Given the description of an element on the screen output the (x, y) to click on. 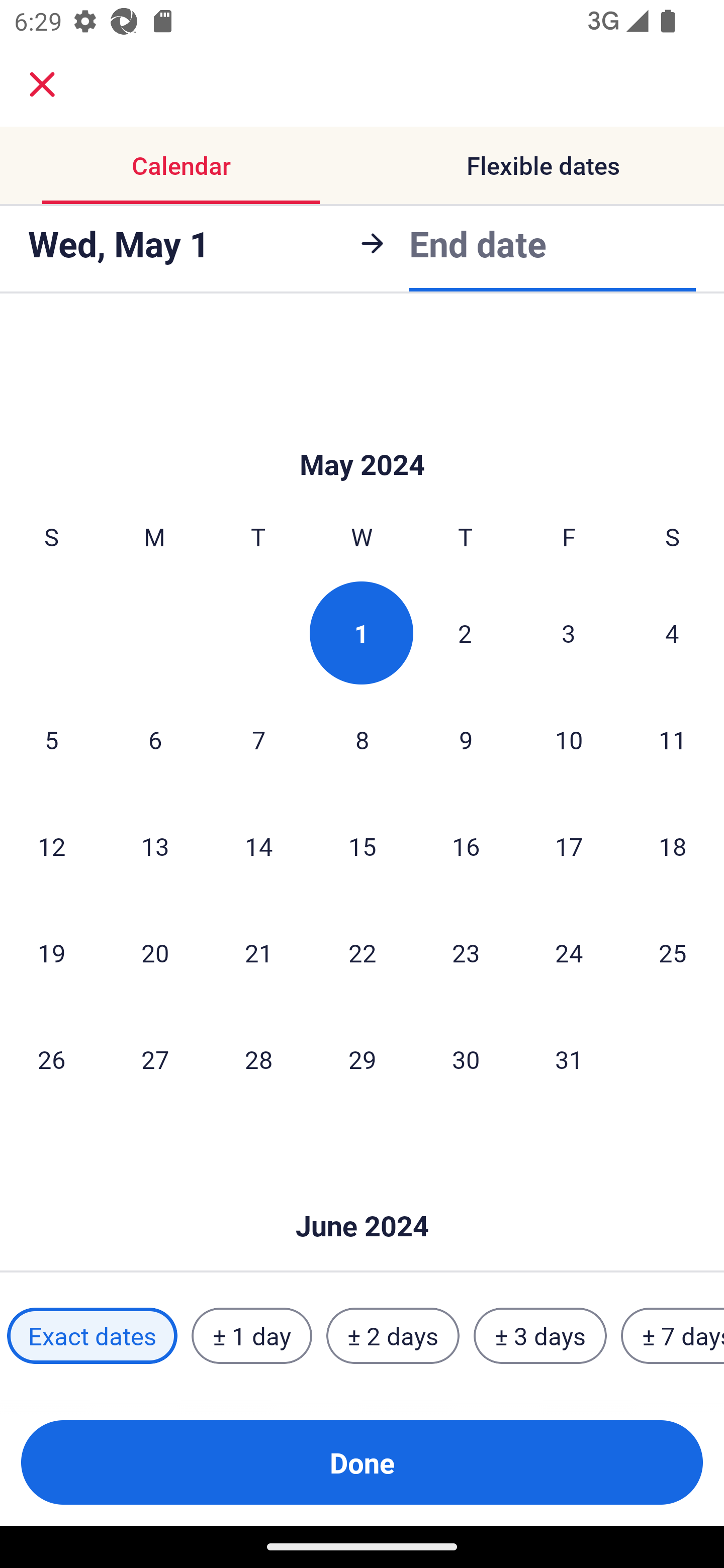
close. (42, 84)
Flexible dates (542, 164)
End date (477, 243)
Skip to Done (362, 434)
2 Thursday, May 2, 2024 (464, 633)
3 Friday, May 3, 2024 (568, 633)
4 Saturday, May 4, 2024 (672, 633)
5 Sunday, May 5, 2024 (51, 739)
6 Monday, May 6, 2024 (155, 739)
7 Tuesday, May 7, 2024 (258, 739)
8 Wednesday, May 8, 2024 (362, 739)
9 Thursday, May 9, 2024 (465, 739)
10 Friday, May 10, 2024 (569, 739)
11 Saturday, May 11, 2024 (672, 739)
12 Sunday, May 12, 2024 (51, 845)
13 Monday, May 13, 2024 (155, 845)
14 Tuesday, May 14, 2024 (258, 845)
15 Wednesday, May 15, 2024 (362, 845)
16 Thursday, May 16, 2024 (465, 845)
17 Friday, May 17, 2024 (569, 845)
18 Saturday, May 18, 2024 (672, 845)
19 Sunday, May 19, 2024 (51, 952)
20 Monday, May 20, 2024 (155, 952)
21 Tuesday, May 21, 2024 (258, 952)
22 Wednesday, May 22, 2024 (362, 952)
23 Thursday, May 23, 2024 (465, 952)
24 Friday, May 24, 2024 (569, 952)
25 Saturday, May 25, 2024 (672, 952)
26 Sunday, May 26, 2024 (51, 1059)
27 Monday, May 27, 2024 (155, 1059)
28 Tuesday, May 28, 2024 (258, 1059)
29 Wednesday, May 29, 2024 (362, 1059)
30 Thursday, May 30, 2024 (465, 1059)
31 Friday, May 31, 2024 (569, 1059)
Skip to Done (362, 1196)
Exact dates (92, 1335)
± 1 day (251, 1335)
± 2 days (392, 1335)
± 3 days (539, 1335)
± 7 days (672, 1335)
Done (361, 1462)
